Given the description of an element on the screen output the (x, y) to click on. 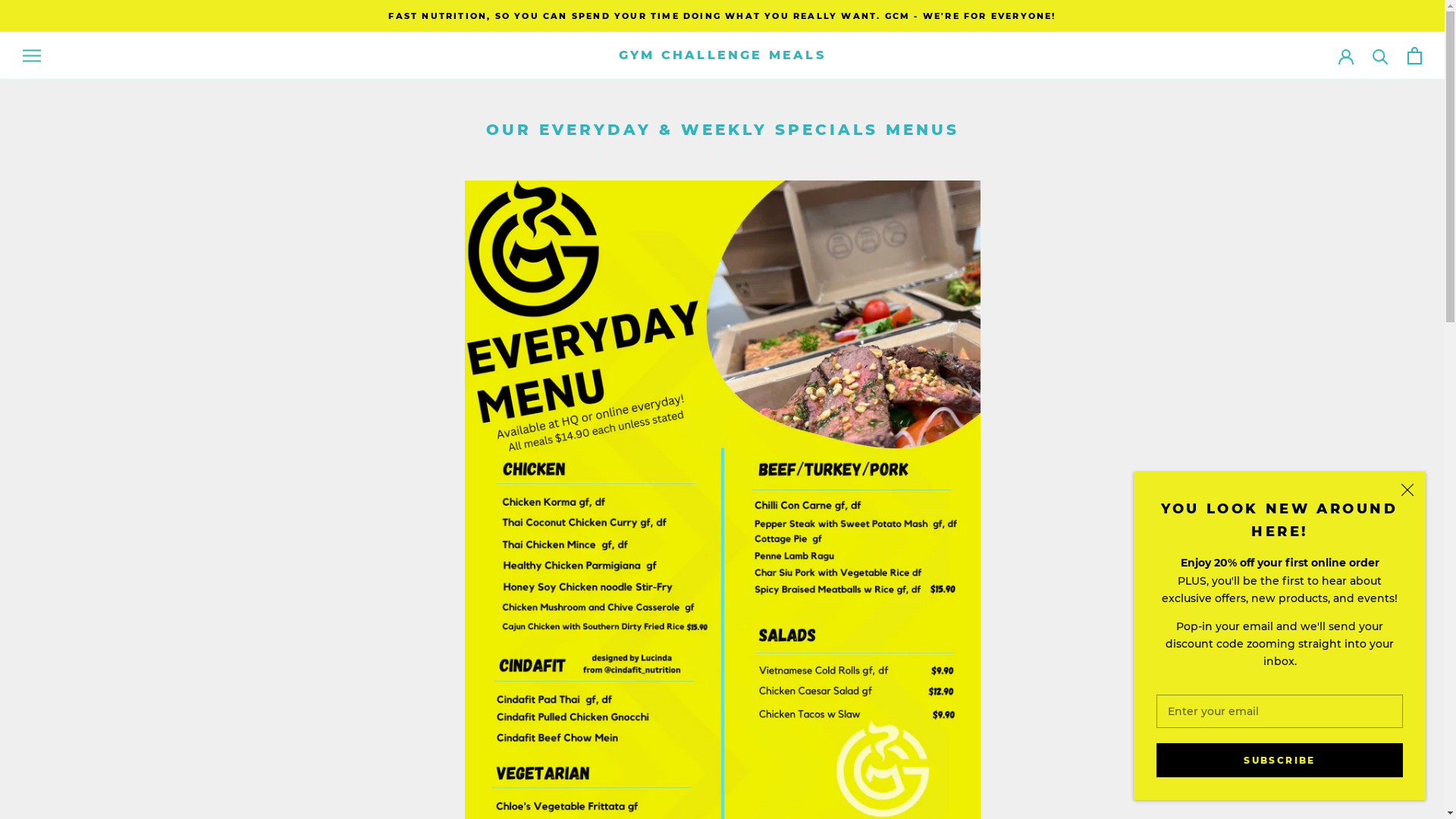
GYM CHALLENGE MEALS Element type: text (721, 55)
SUBSCRIBE Element type: text (1279, 760)
